Given the description of an element on the screen output the (x, y) to click on. 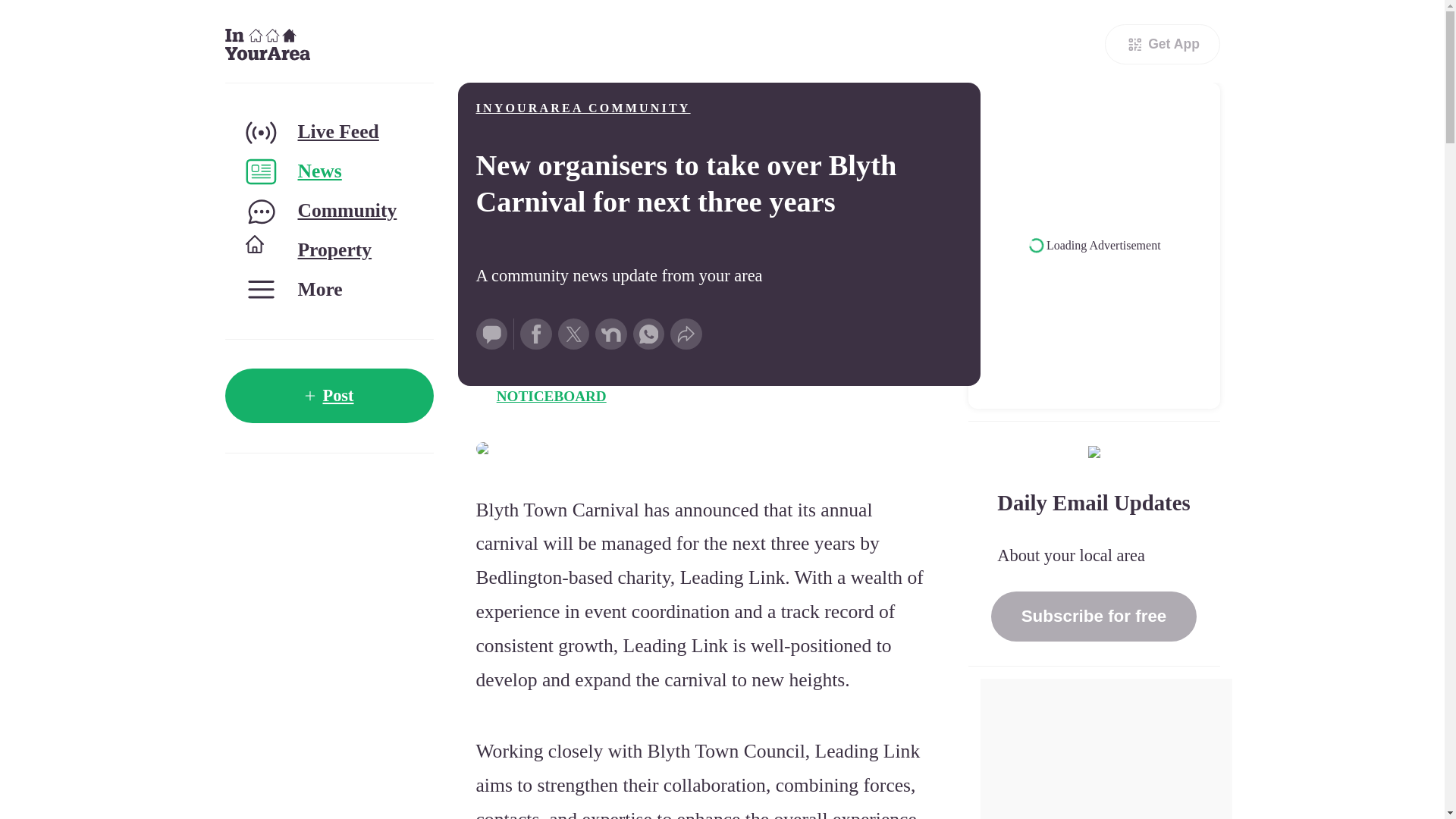
INYOURAREA COMMUNITY (583, 107)
Share to Whatsapp (649, 334)
Share to ... (685, 334)
Get App (1162, 44)
Property (328, 250)
Community (328, 210)
Post (328, 395)
Share to Facebook (535, 334)
Get App (1162, 44)
News (328, 171)
